Given the description of an element on the screen output the (x, y) to click on. 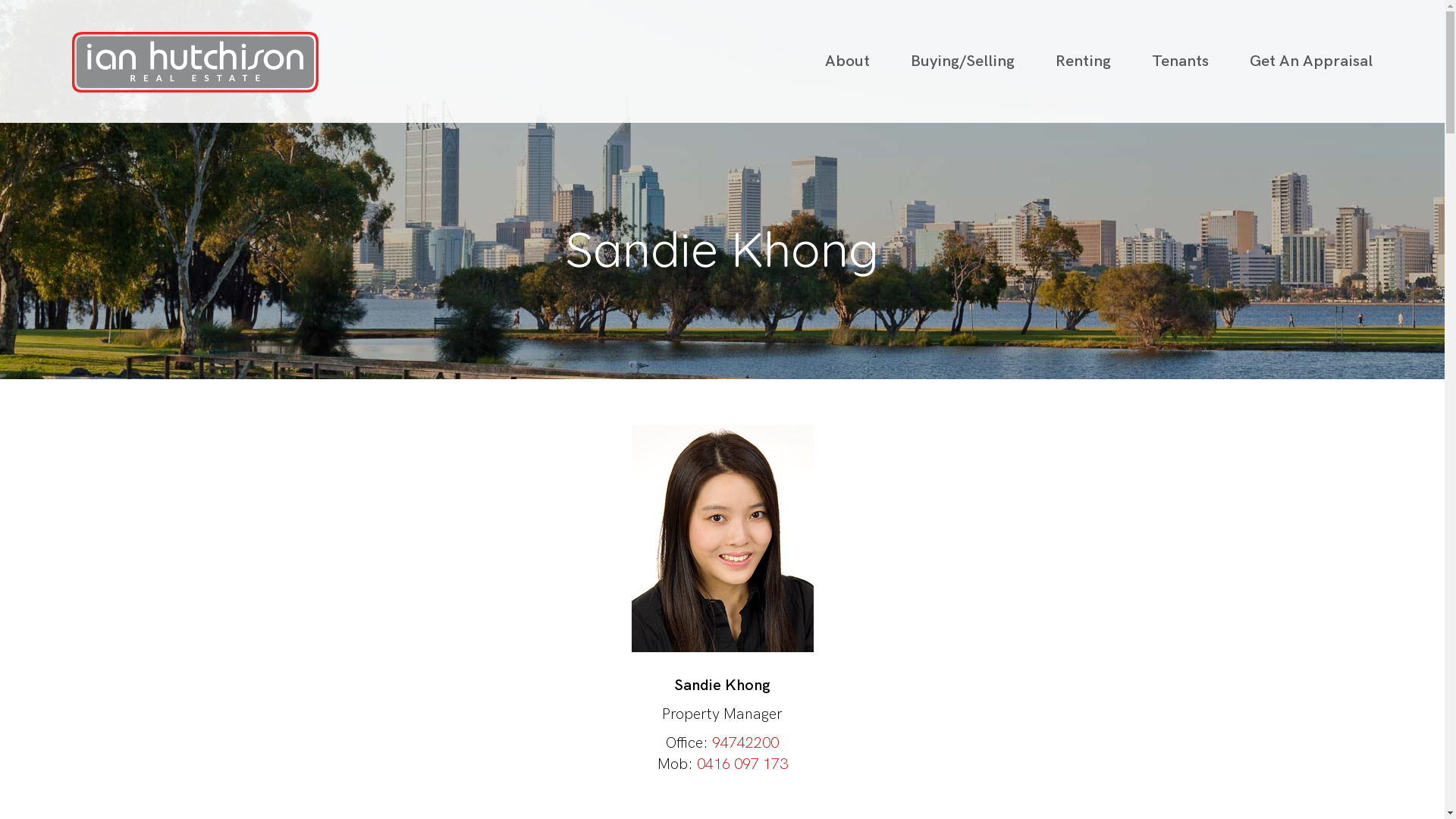
Renting Element type: text (1082, 61)
About Element type: text (856, 61)
Get An Appraisal Element type: text (1301, 61)
94742200 Element type: text (745, 743)
Buying/Selling Element type: text (962, 61)
Tenants Element type: text (1179, 61)
0416 097 173 Element type: text (741, 764)
